Given the description of an element on the screen output the (x, y) to click on. 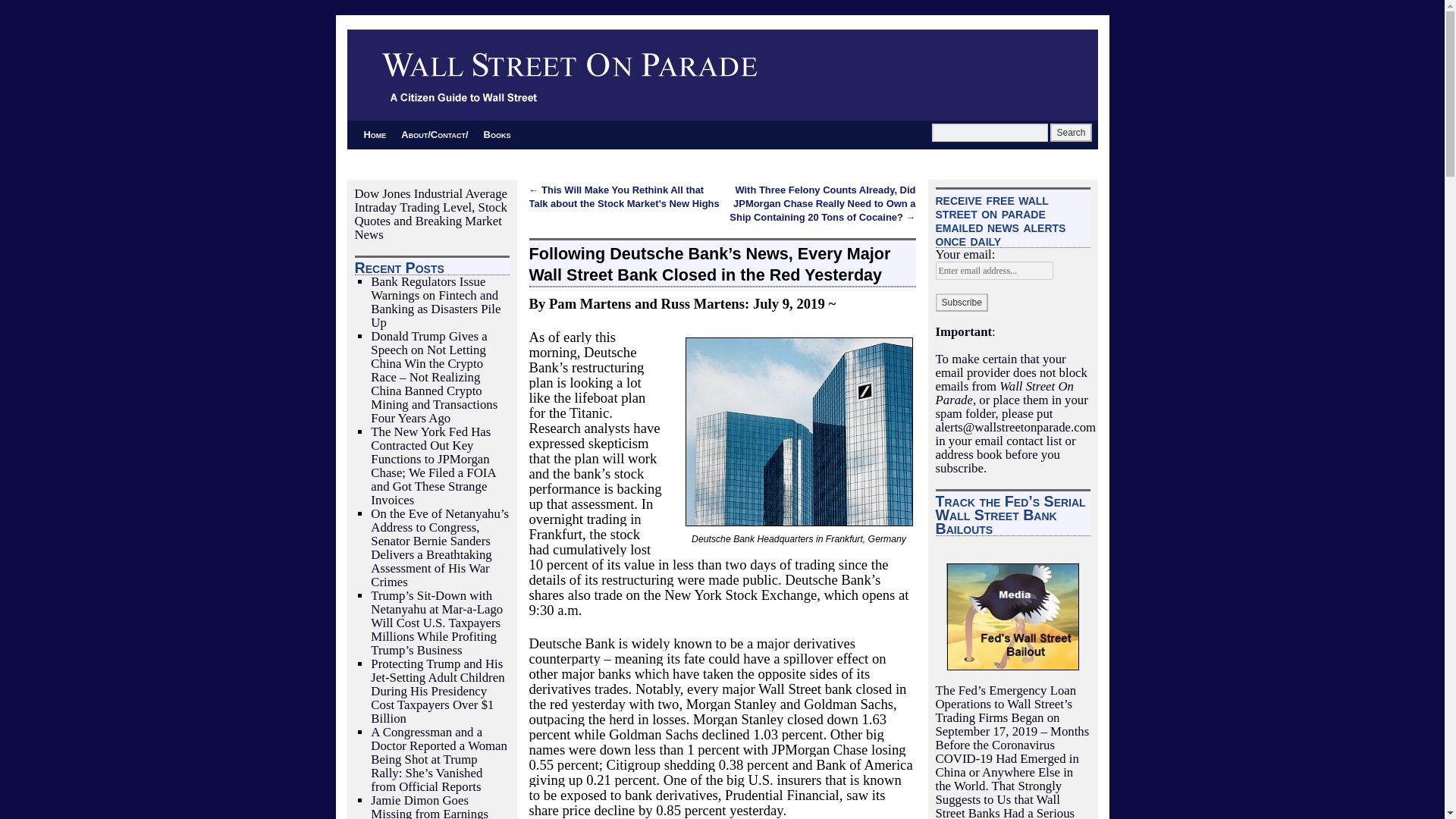
Home (375, 134)
Enter email address... (994, 270)
Subscribe (962, 302)
Search (1069, 132)
Search (1069, 132)
Books (497, 134)
